Given the description of an element on the screen output the (x, y) to click on. 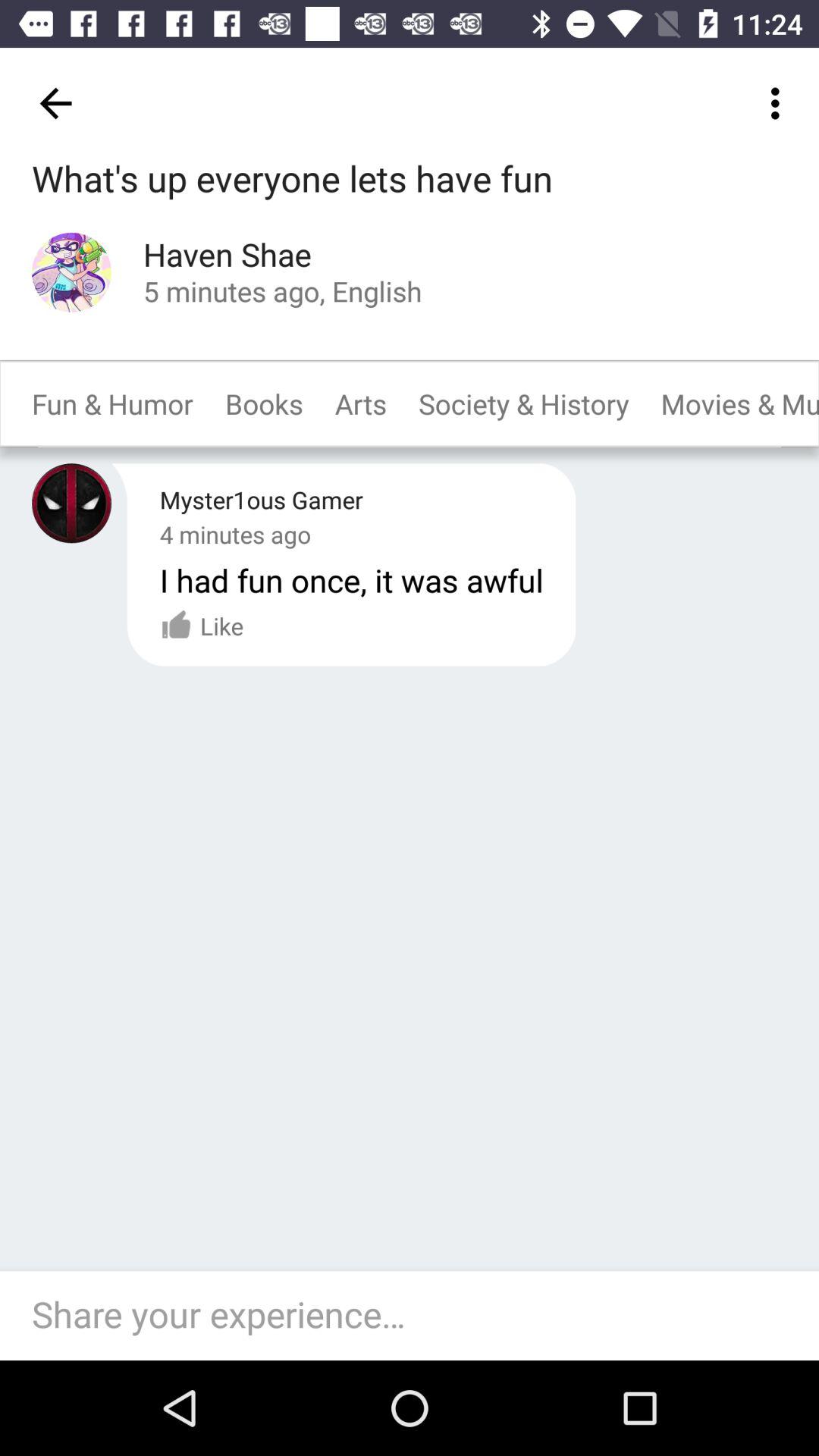
tap the i had fun at the center (351, 579)
